Given the description of an element on the screen output the (x, y) to click on. 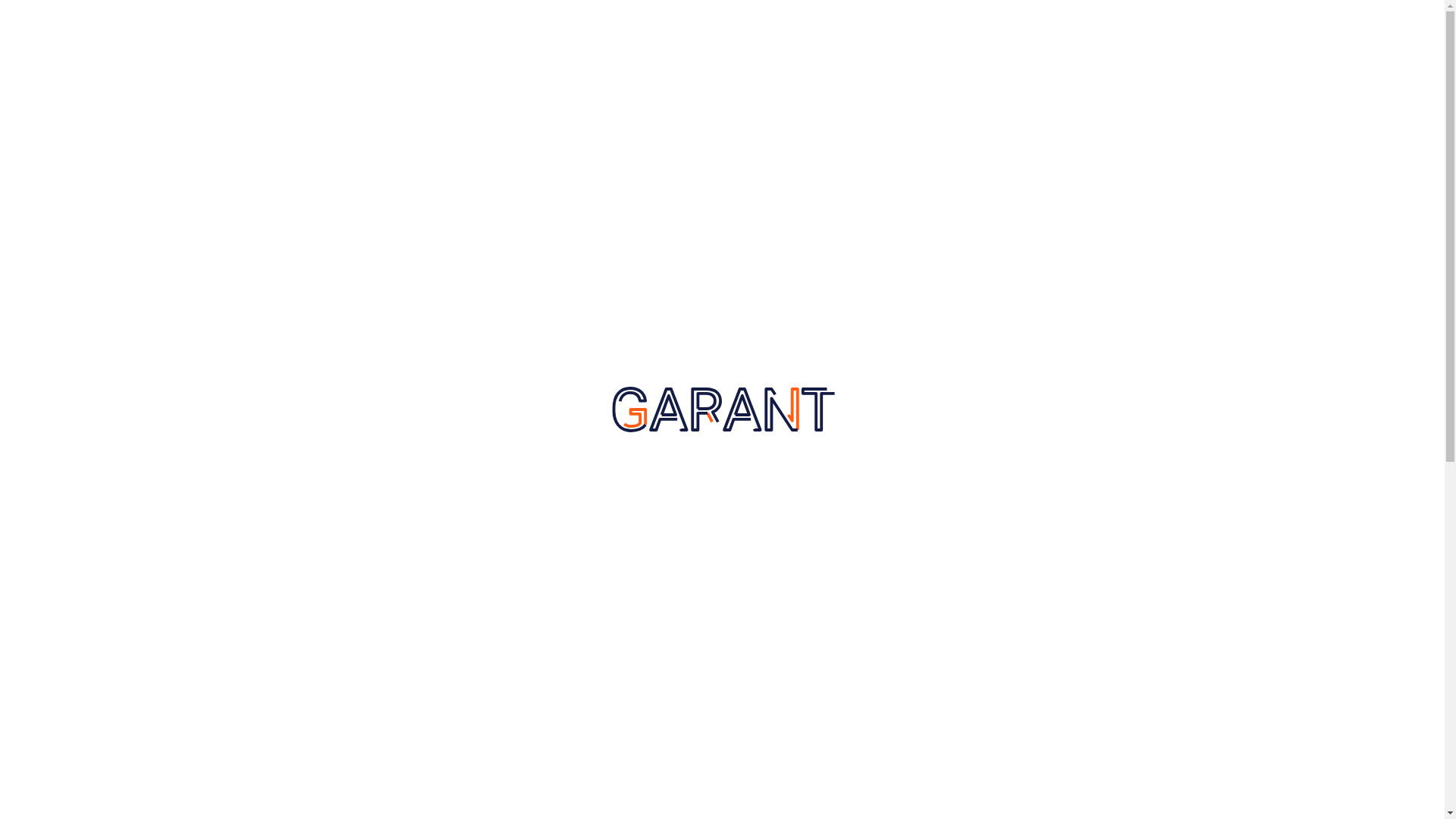
office@garantcompany.az Element type: text (542, 24)
+994 51 215 44 00 Element type: text (374, 24)
HAQQIMIZDA Element type: text (558, 77)
